Given the description of an element on the screen output the (x, y) to click on. 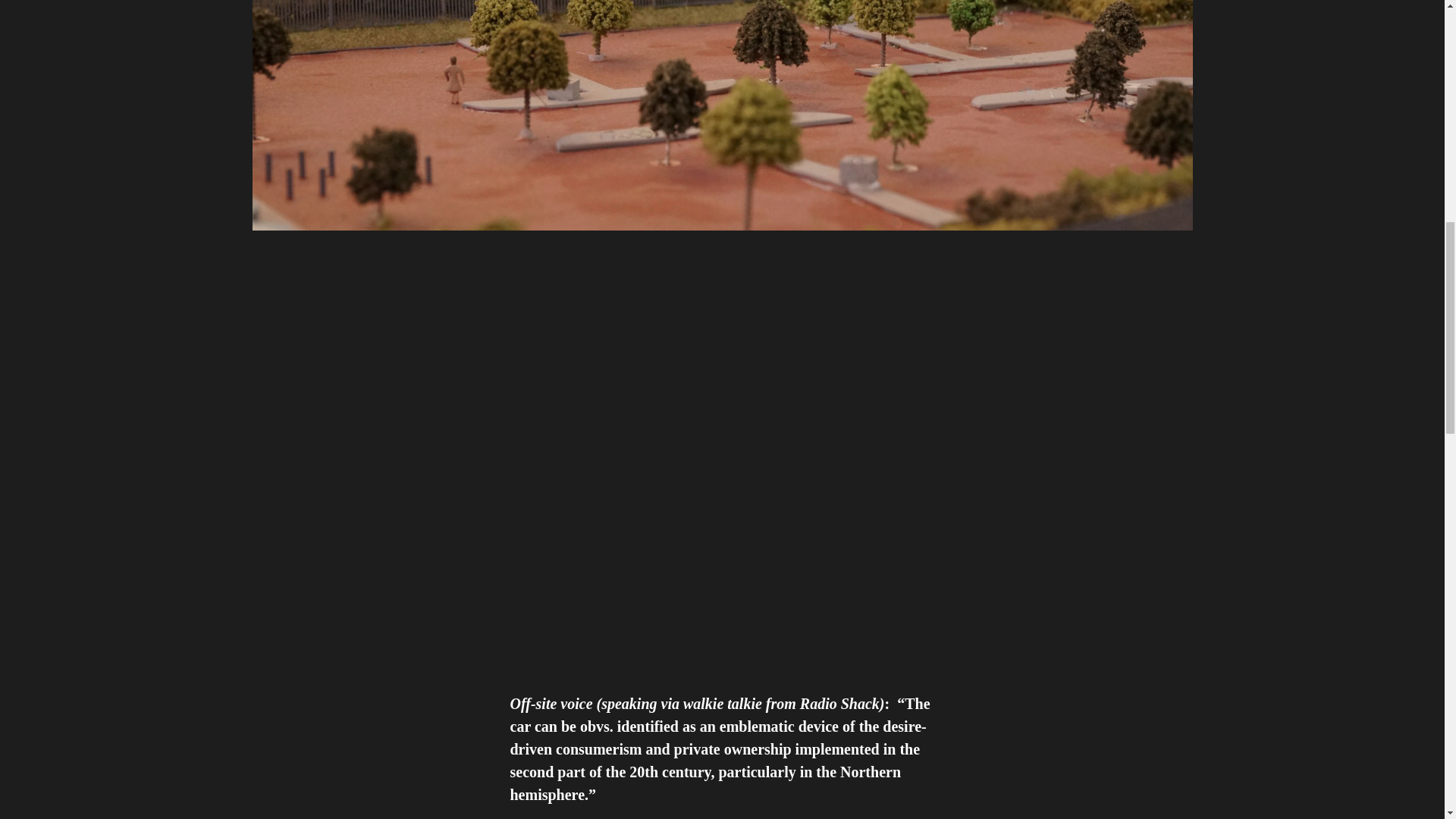
1 (615, 333)
4 (825, 470)
2 (828, 333)
3 (611, 470)
5 (613, 608)
